Given the description of an element on the screen output the (x, y) to click on. 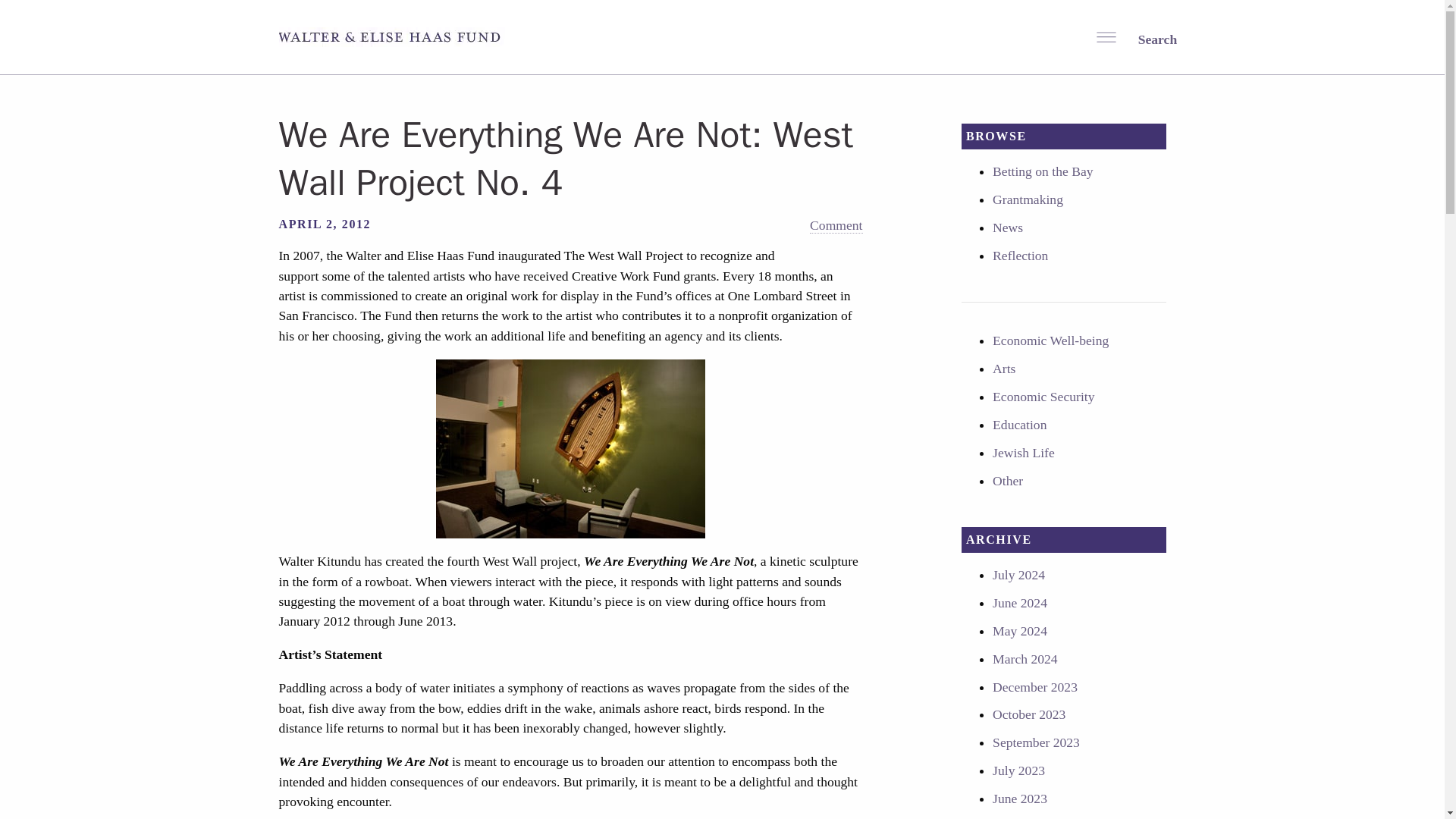
Arts (1003, 368)
July 2024 (1018, 574)
Economic Well-being (1050, 340)
Search (1147, 38)
Reflection (1020, 255)
Grantmaking (1027, 199)
Betting on the Bay (1042, 171)
Jewish Life (1023, 452)
Other (1007, 480)
June 2024 (1019, 602)
